Given the description of an element on the screen output the (x, y) to click on. 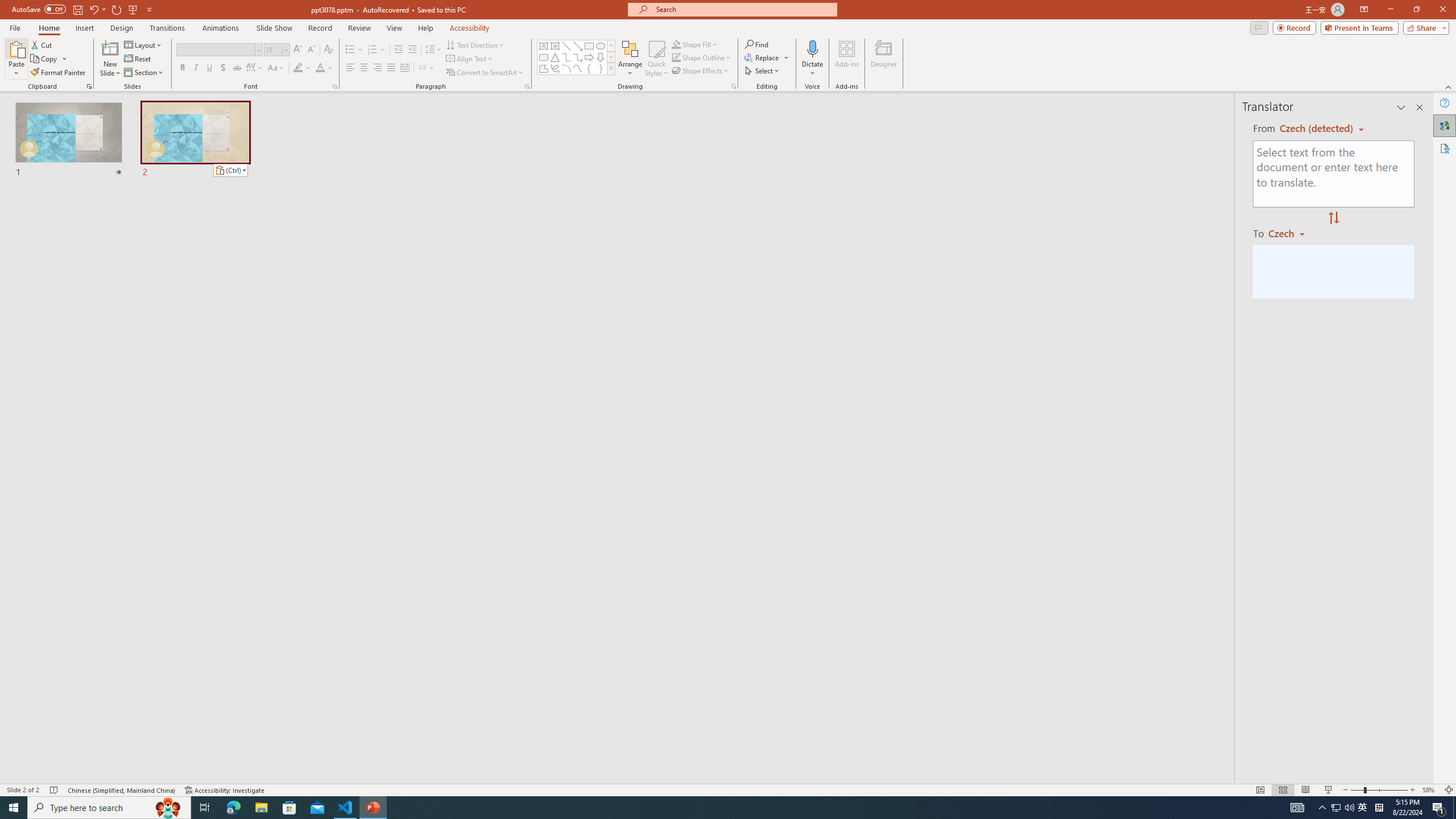
Action: Paste alternatives (229, 169)
